Given the description of an element on the screen output the (x, y) to click on. 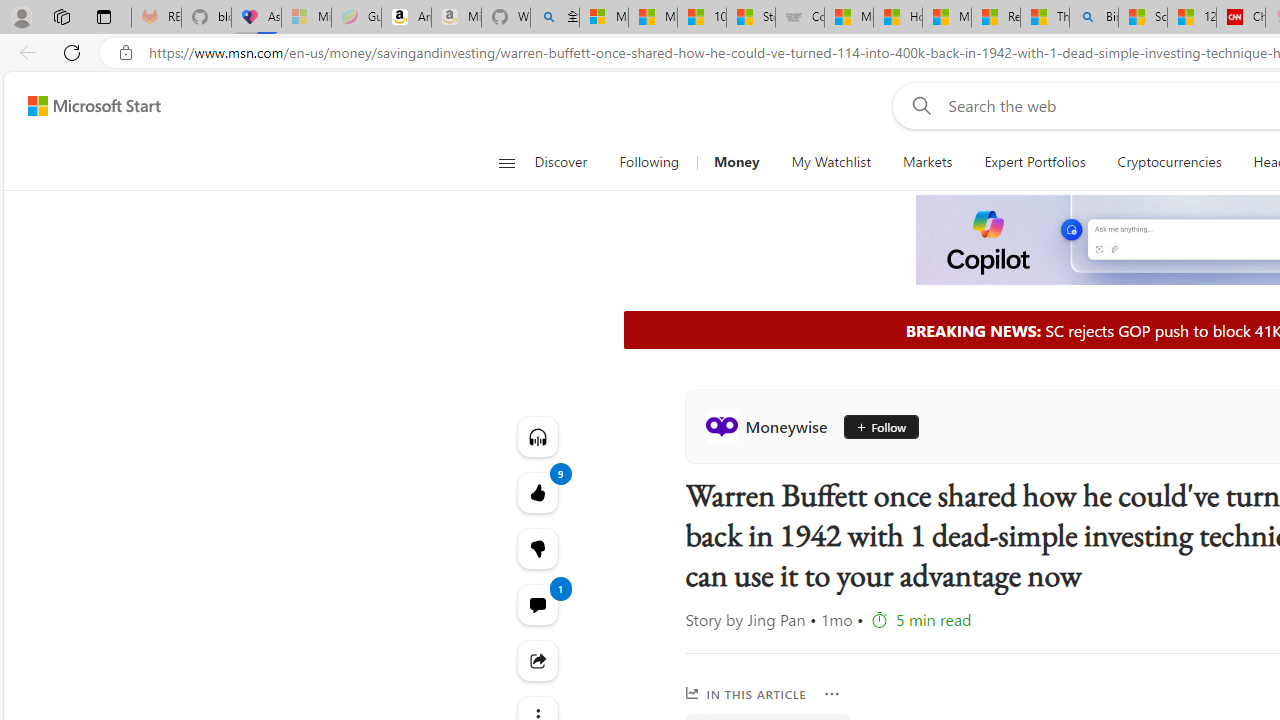
Markets (926, 162)
Markets (927, 162)
Cryptocurrencies (1168, 162)
Combat Siege (799, 17)
My Watchlist (830, 162)
Open navigation menu (506, 162)
Recipes - MSN (995, 17)
